Given the description of an element on the screen output the (x, y) to click on. 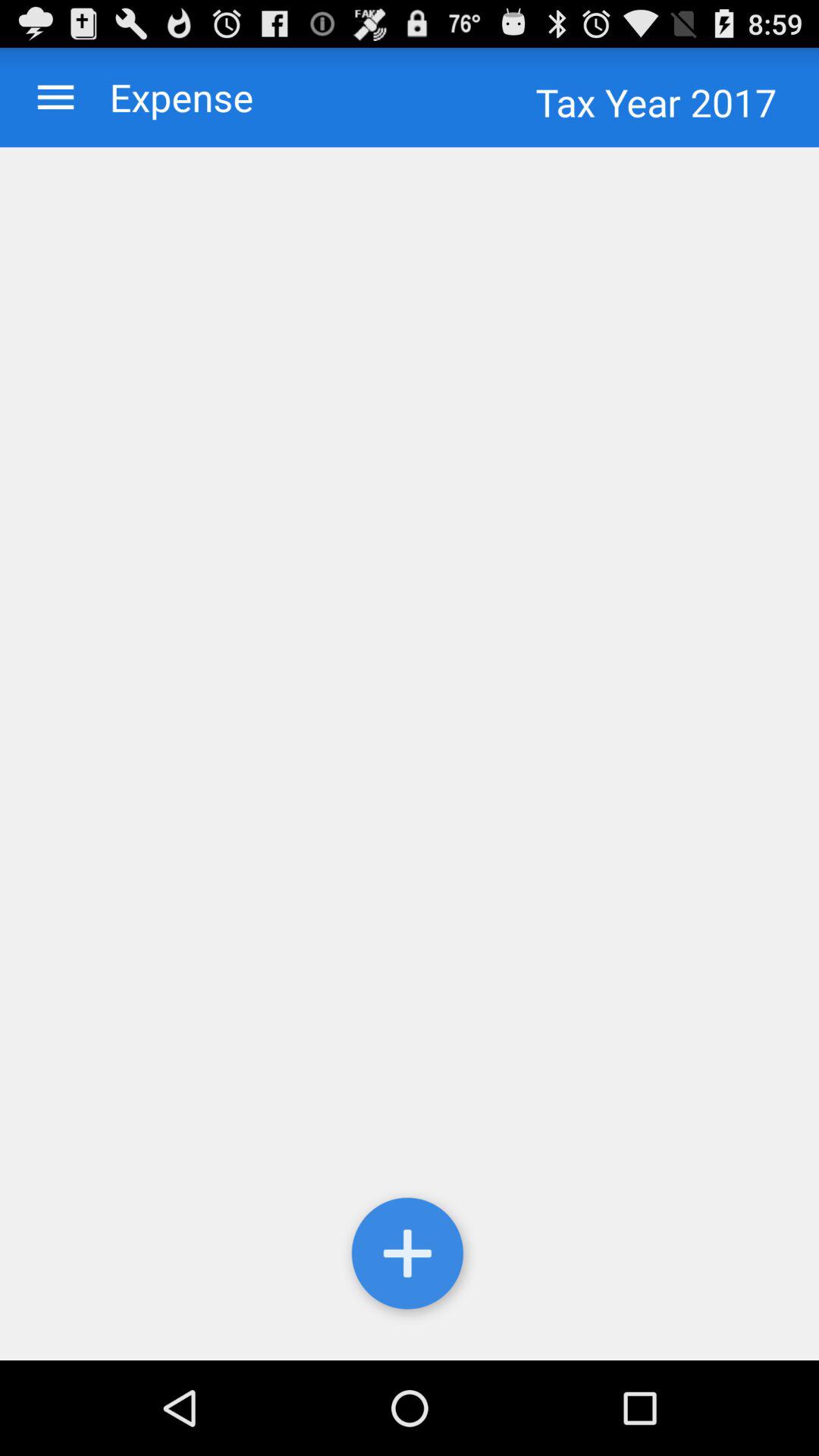
click to blank page (409, 753)
